Given the description of an element on the screen output the (x, y) to click on. 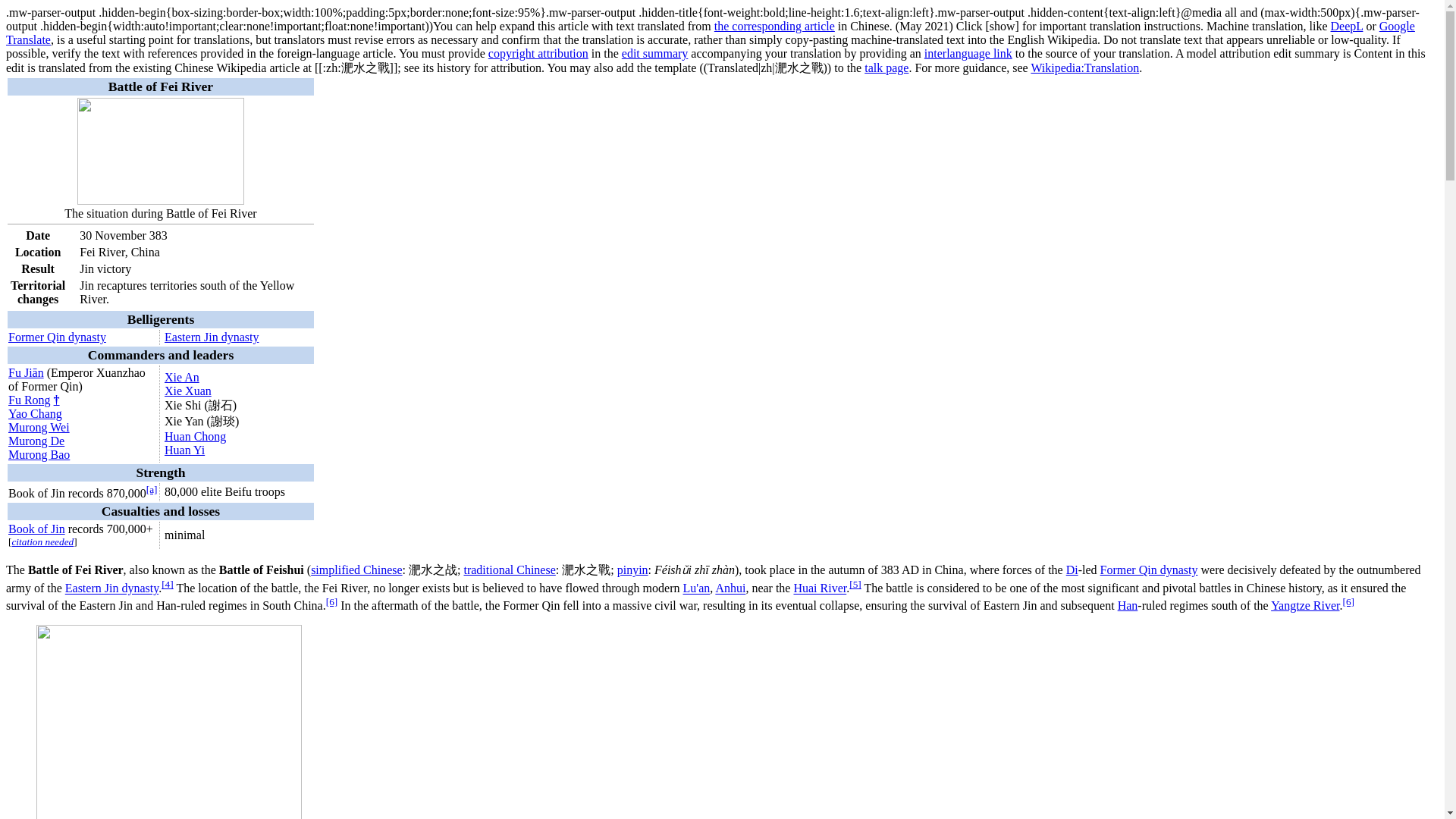
Former Qin dynasty (57, 336)
the corresponding article (774, 25)
Yao Chang (35, 413)
Google Translate (710, 32)
Wikipedia:Translation (1084, 67)
Han (1128, 604)
Huan Chong (194, 436)
citation needed (42, 541)
Murong Wei (38, 427)
Murong De (36, 440)
Xie Xuan (187, 390)
Lu'an (696, 588)
Pinyin (632, 569)
interlanguage link (967, 52)
Xie Xuan (187, 390)
